Given the description of an element on the screen output the (x, y) to click on. 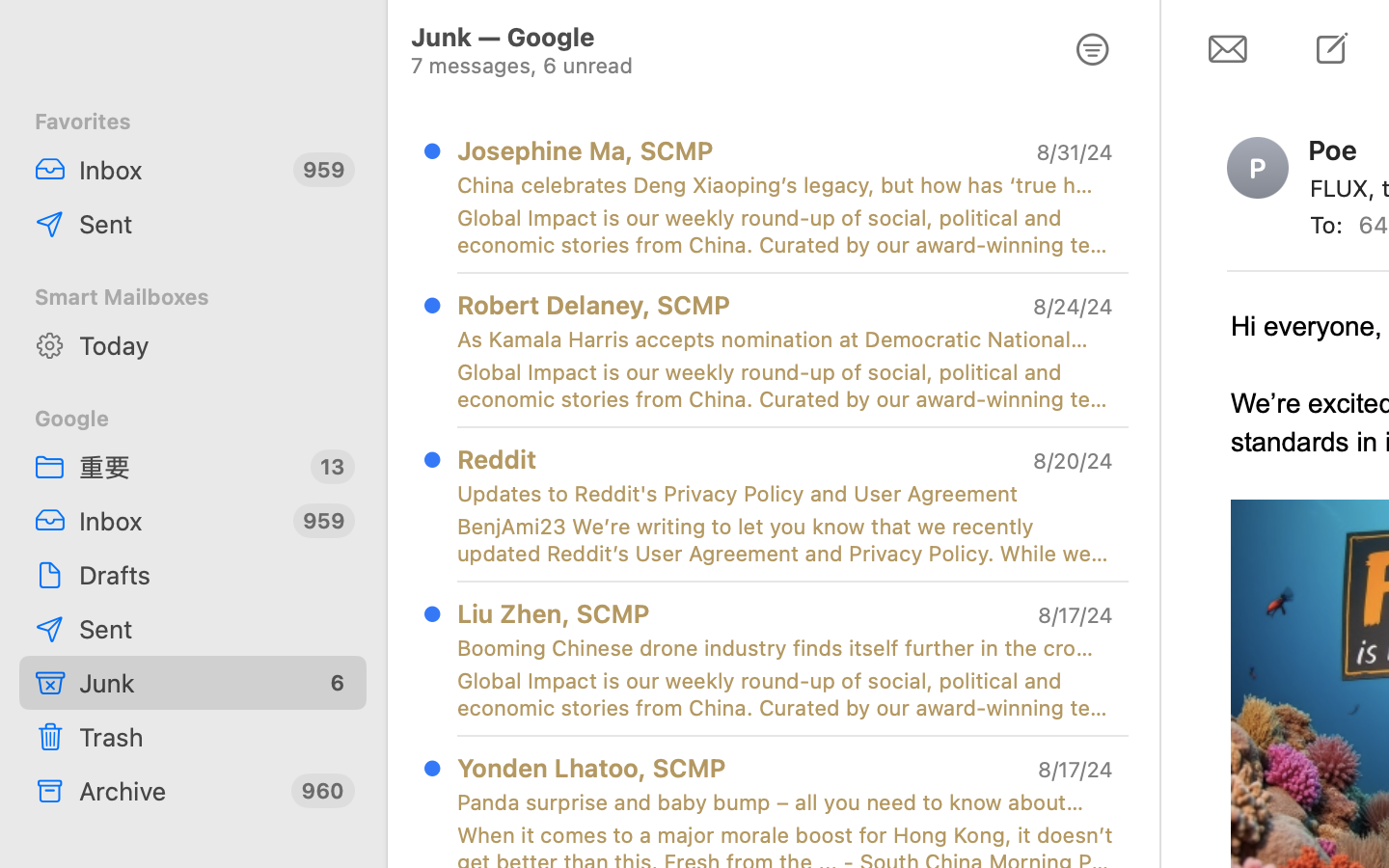
Robert Delaney, SCMP Element type: AXStaticText (594, 304)
Global Impact is our weekly round-up of social, political and economic stories from China. Curated by our award-winning team of ... - South China Morning Post, SCMP, Global Impact - Global Impact is our weekly round-up of social, political and economic stories from China. Curated by our award-winning team of ... This newsletter is now only available to our digital subscribers. Subscribe to a 1-year plan with a 25% discount for the first year to continue to receive this newsletter along with unlimited access to SCMP.com. Was this newsletter forwarded to you? Sign up here China politics & diplomacy China expands export controls on drones, parts with potential for military use Andrew Mullen Deputy Editor, Political Economy 17 August 2024 Global Impact is our weekly round-up of social, political and economic stories from China. Curated by our award-winning team of journalists, this must-read newsletter explores the impact and significance of those stories around the globe. Since July 2023, Element type: AXStaticText (784, 694)
8/20/24 Element type: AXStaticText (1071, 460)
Inbox Element type: AXStaticText (178, 169)
0 Element type: AXCheckBox (1092, 50)
